Given the description of an element on the screen output the (x, y) to click on. 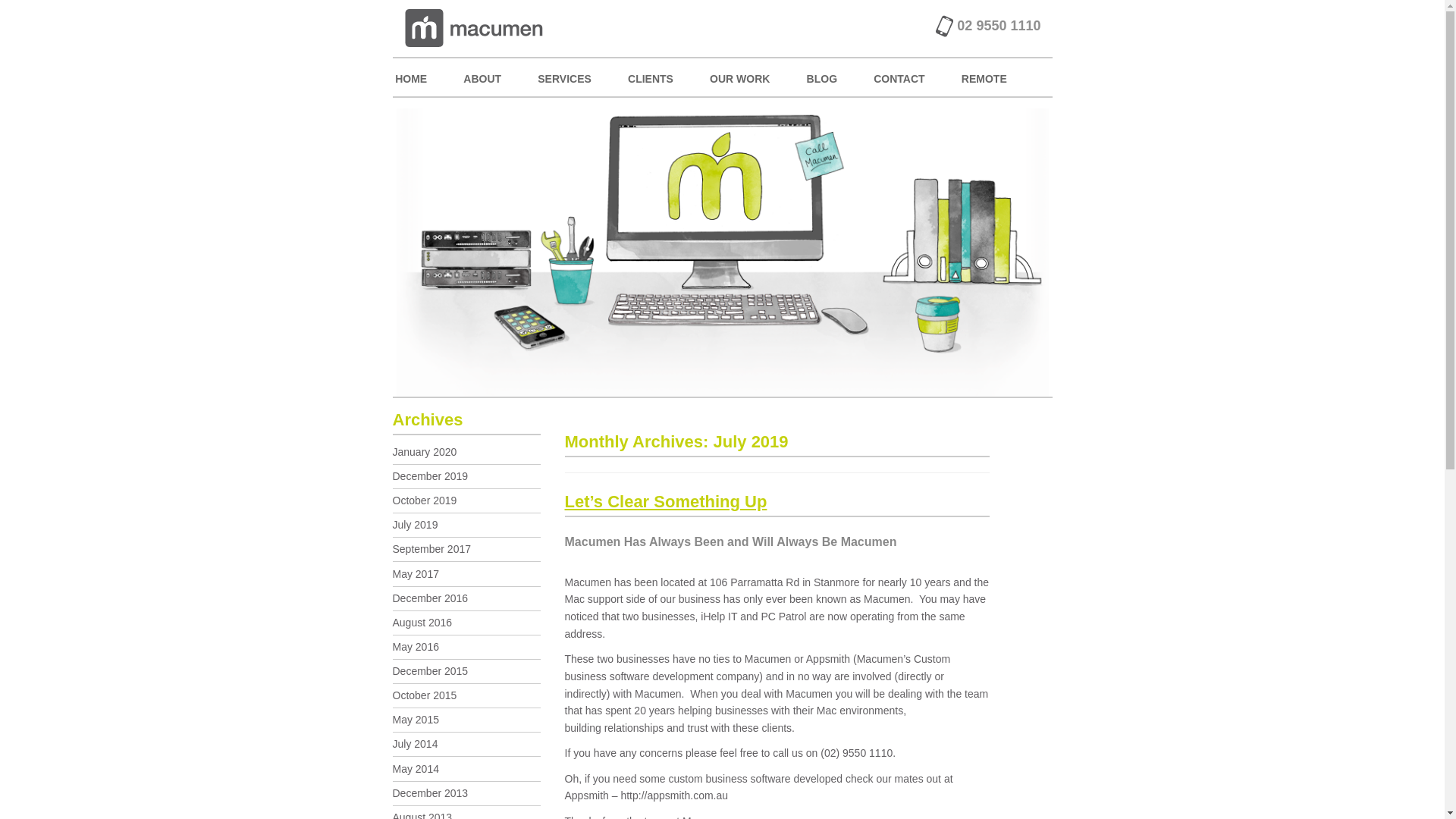
BLOG Element type: text (821, 76)
December 2013 Element type: text (430, 793)
July 2014 Element type: text (415, 743)
January 2020 Element type: text (424, 451)
HOME Element type: text (410, 76)
Skip to primary content Element type: text (462, 76)
October 2019 Element type: text (424, 500)
December 2015 Element type: text (430, 671)
CONTACT Element type: text (898, 76)
May 2016 Element type: text (415, 646)
October 2015 Element type: text (424, 695)
ABOUT Element type: text (481, 76)
July 2019 Element type: text (415, 524)
May 2014 Element type: text (415, 768)
REMOTE Element type: text (984, 76)
Skip to secondary content Element type: text (470, 76)
02 9550 1110 Element type: text (987, 35)
SERVICES Element type: text (564, 76)
May 2015 Element type: text (415, 719)
May 2017 Element type: text (415, 573)
September 2017 Element type: text (431, 548)
August 2016 Element type: text (422, 622)
OUR WORK Element type: text (739, 76)
CLIENTS Element type: text (650, 76)
December 2016 Element type: text (430, 598)
December 2019 Element type: text (430, 476)
